Given the description of an element on the screen output the (x, y) to click on. 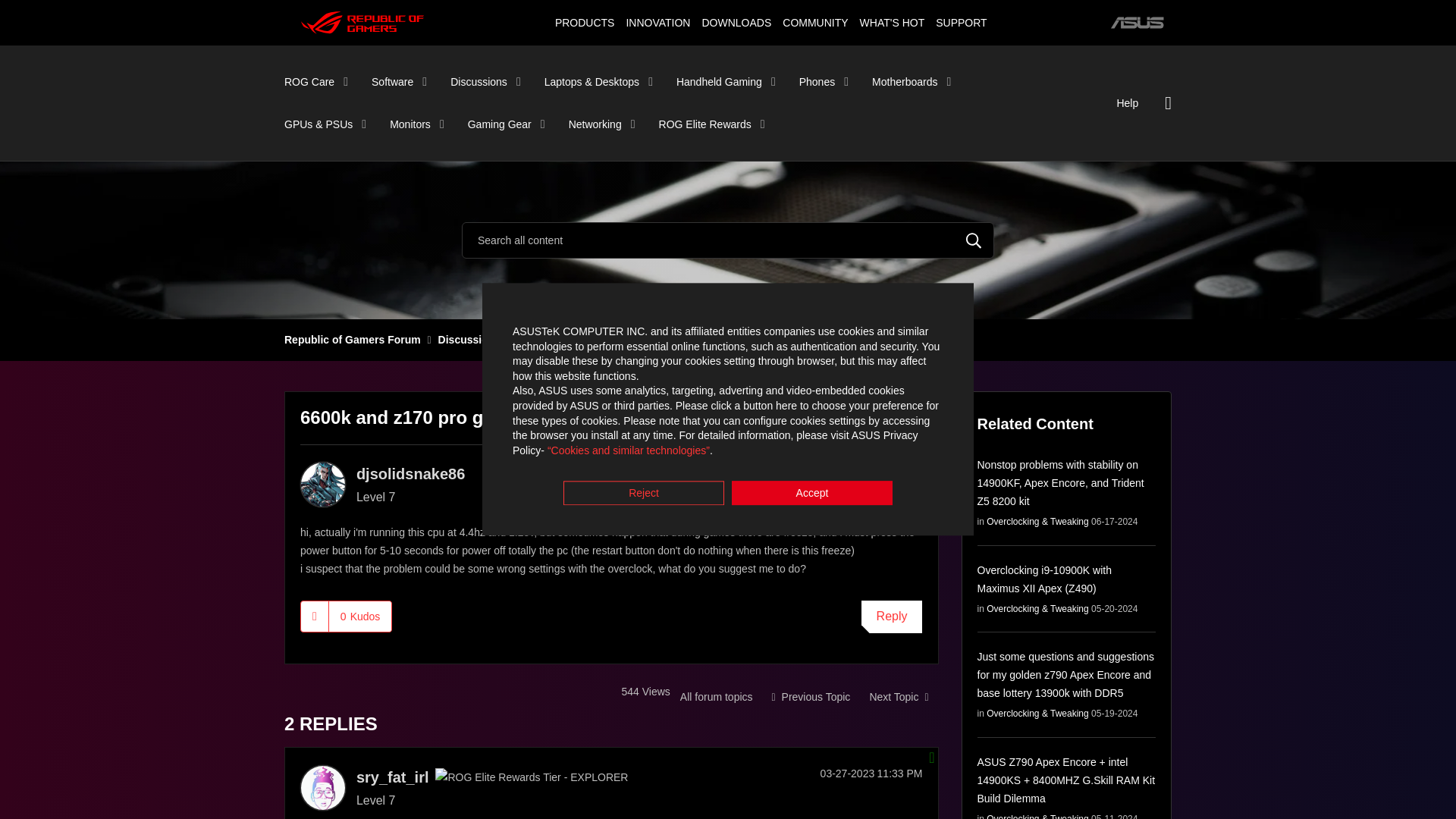
DOWNLOADS (736, 22)
Search (973, 239)
ROG Elite Rewards Tier - EXPLORER (531, 777)
QFan in bios and changing the temperature sensor (898, 696)
The total number of kudos this post has received. (360, 615)
Search (727, 239)
PRODUCTS (584, 22)
Search (973, 239)
Click here to give kudos to this post. (315, 615)
INNOVATION (657, 22)
djsolidsnake86 (322, 483)
COMMUNITY (815, 22)
